Given the description of an element on the screen output the (x, y) to click on. 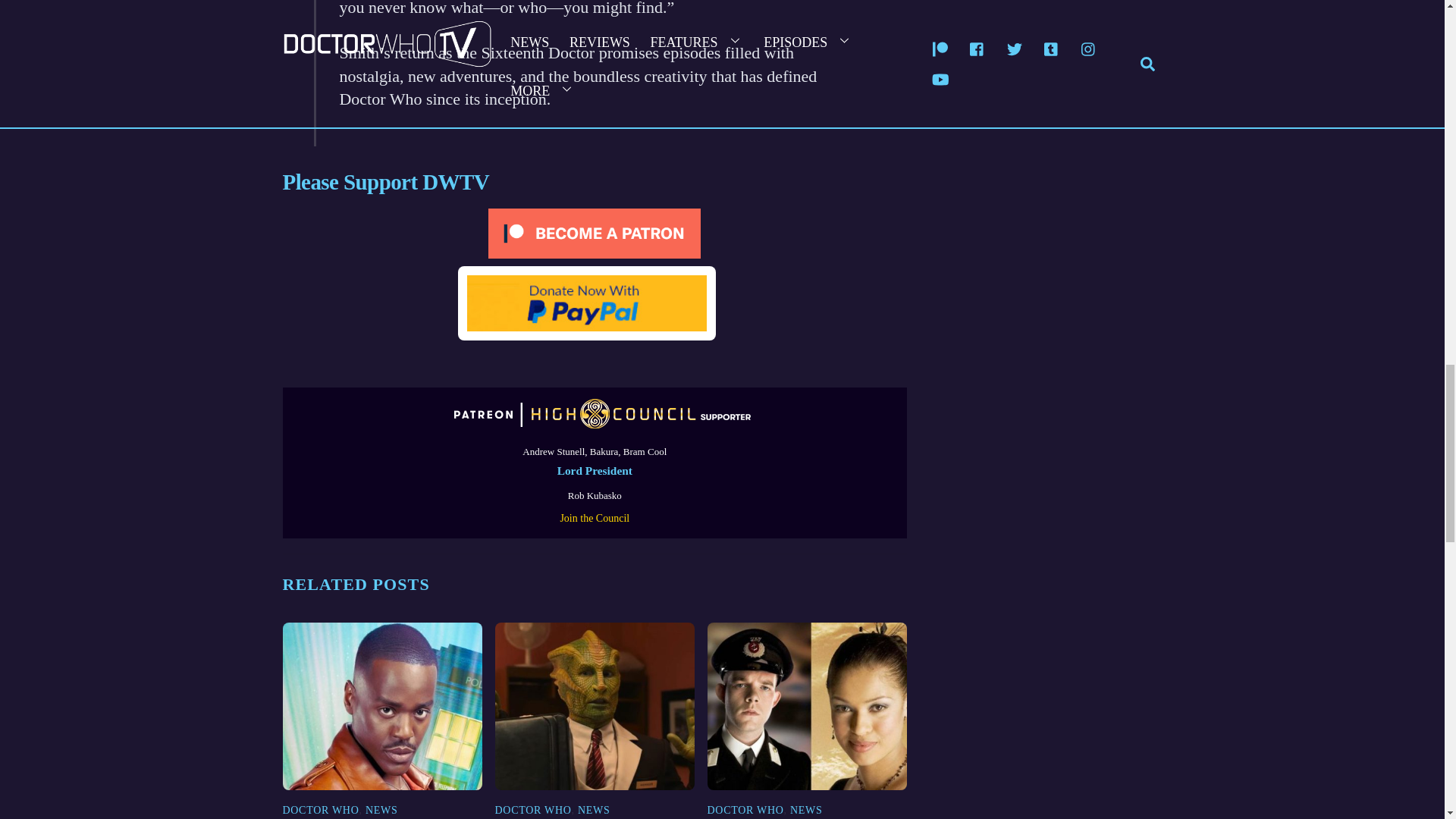
gatwa-2023-promo-15th-tardis (381, 706)
russell-tovey-gugu-mbatha-raw-doctor-who (807, 706)
doctor-who-christmas-special-2024-monster-joy (595, 706)
